Given the description of an element on the screen output the (x, y) to click on. 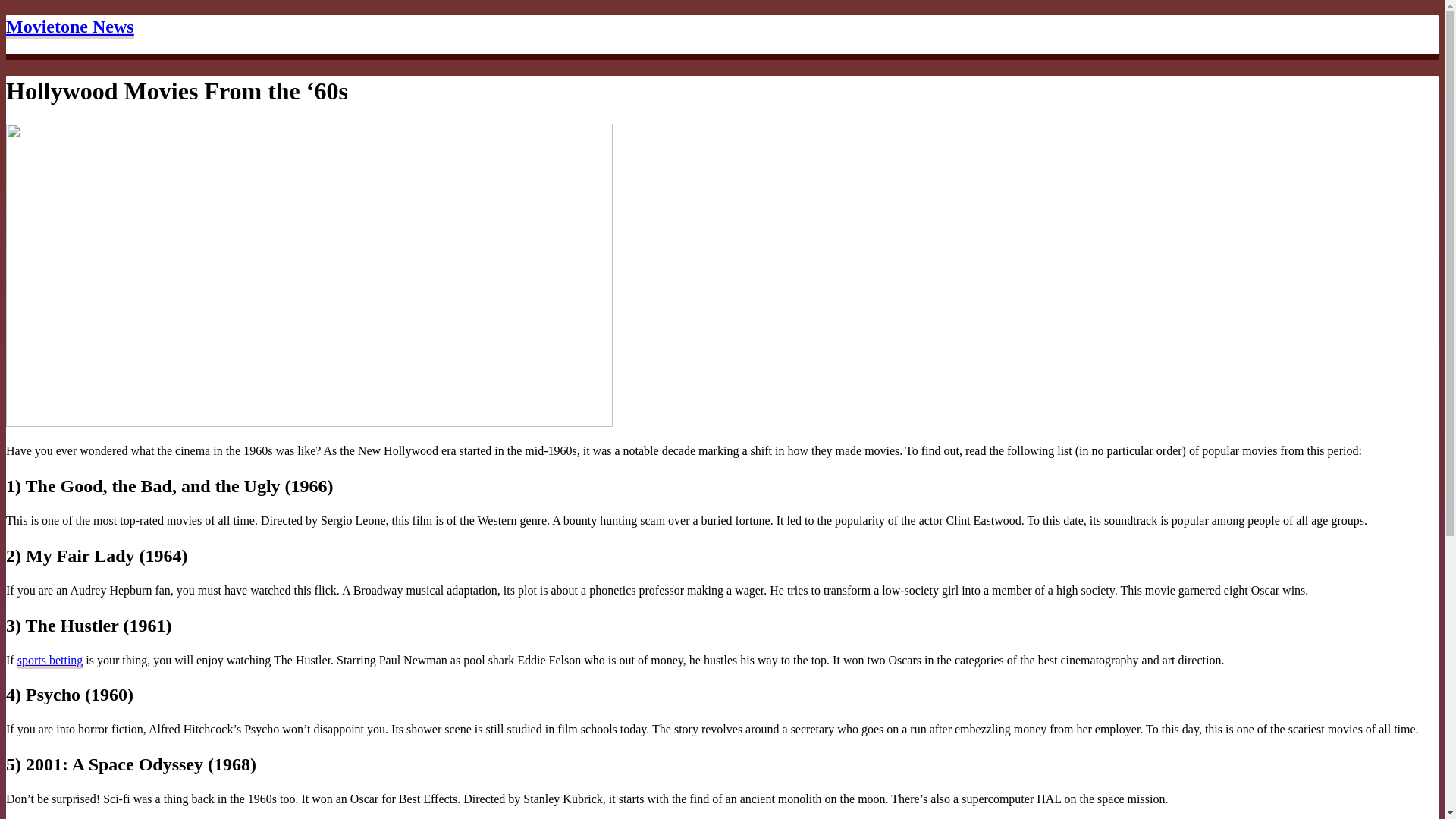
sports betting (49, 661)
Movietone News (69, 27)
